Given the description of an element on the screen output the (x, y) to click on. 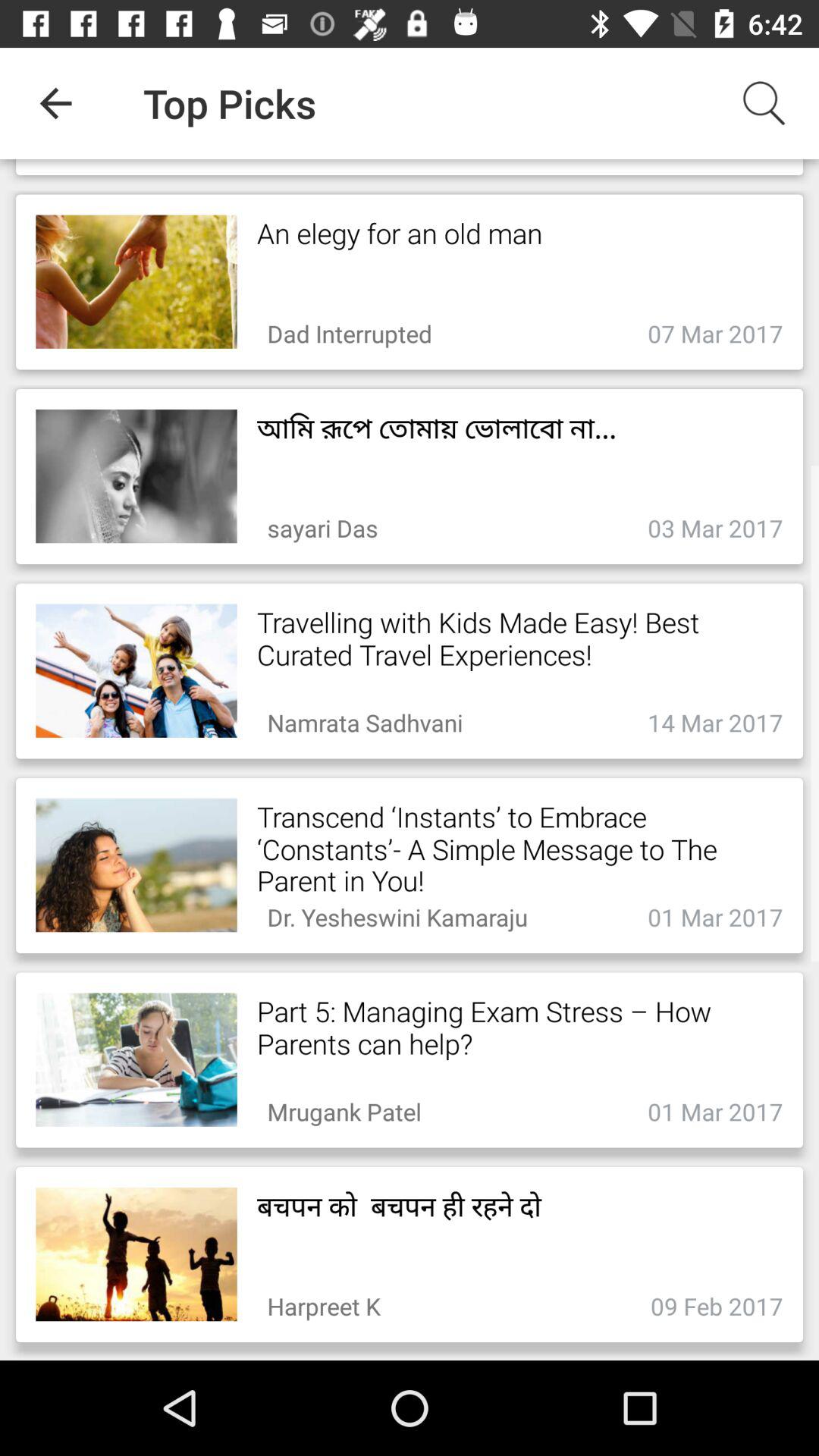
tap the dad interrupted (349, 329)
